Given the description of an element on the screen output the (x, y) to click on. 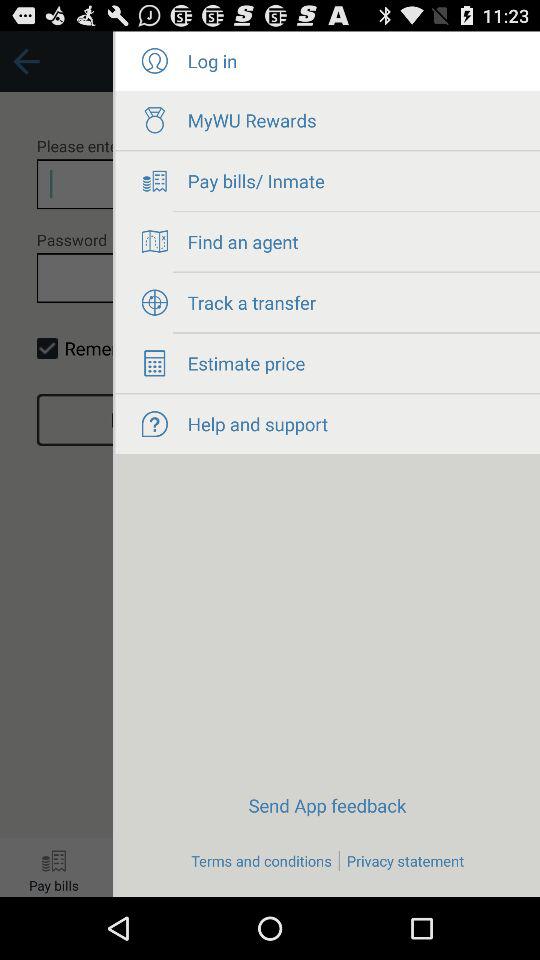
go back (56, 464)
